Given the description of an element on the screen output the (x, y) to click on. 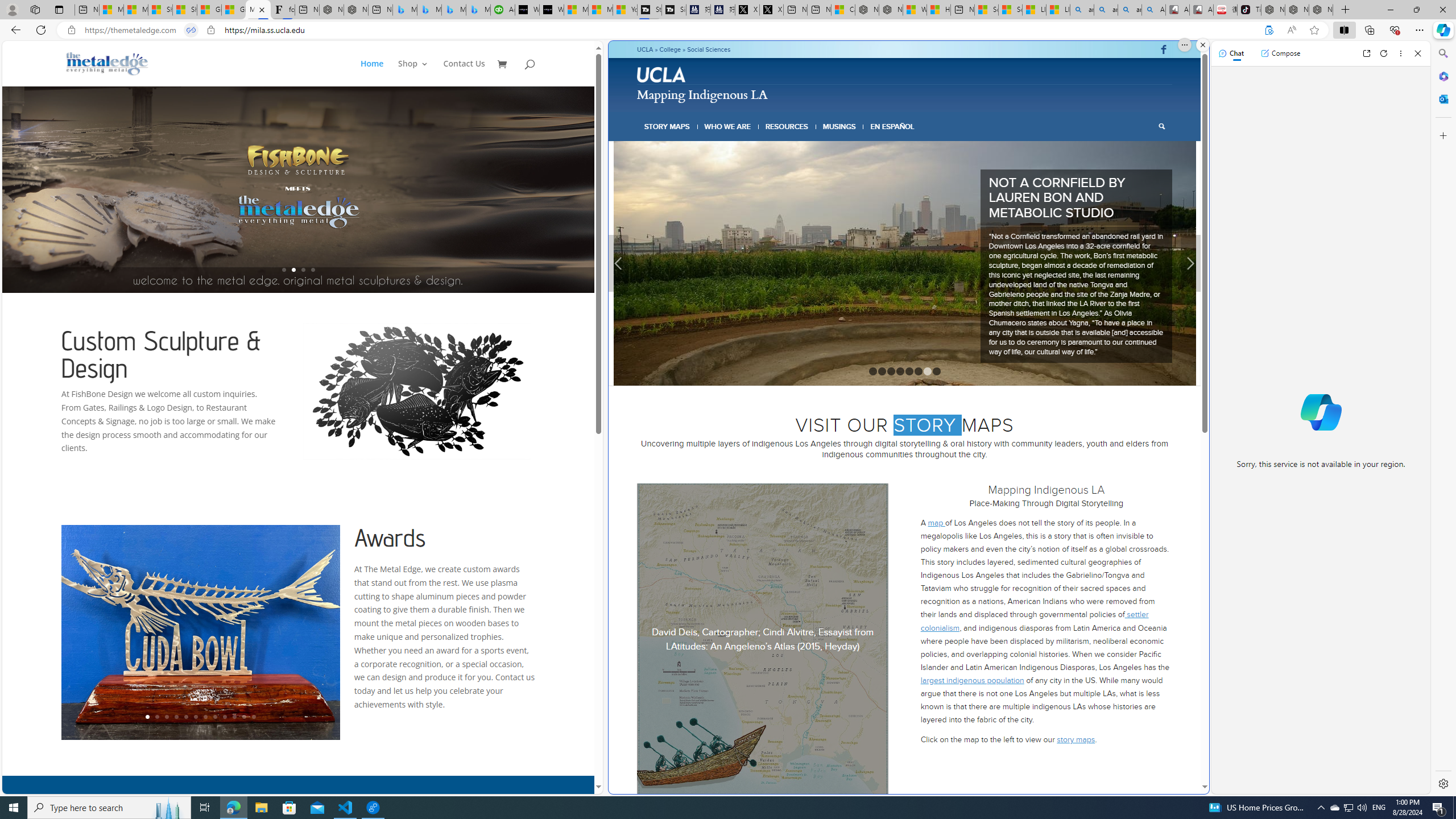
Microsoft Bing Travel - Shangri-La Hotel Bangkok (478, 9)
Metal Fish Sculptures & Metal Designs (106, 63)
Amazon Echo Robot - Search Images (1153, 9)
Nordace Siena Pro 15 Backpack (1296, 9)
UCLA logo (661, 74)
1 (871, 320)
story maps (1075, 688)
Link to Facebook (1163, 49)
8 (935, 320)
Customize (1442, 135)
